Given the description of an element on the screen output the (x, y) to click on. 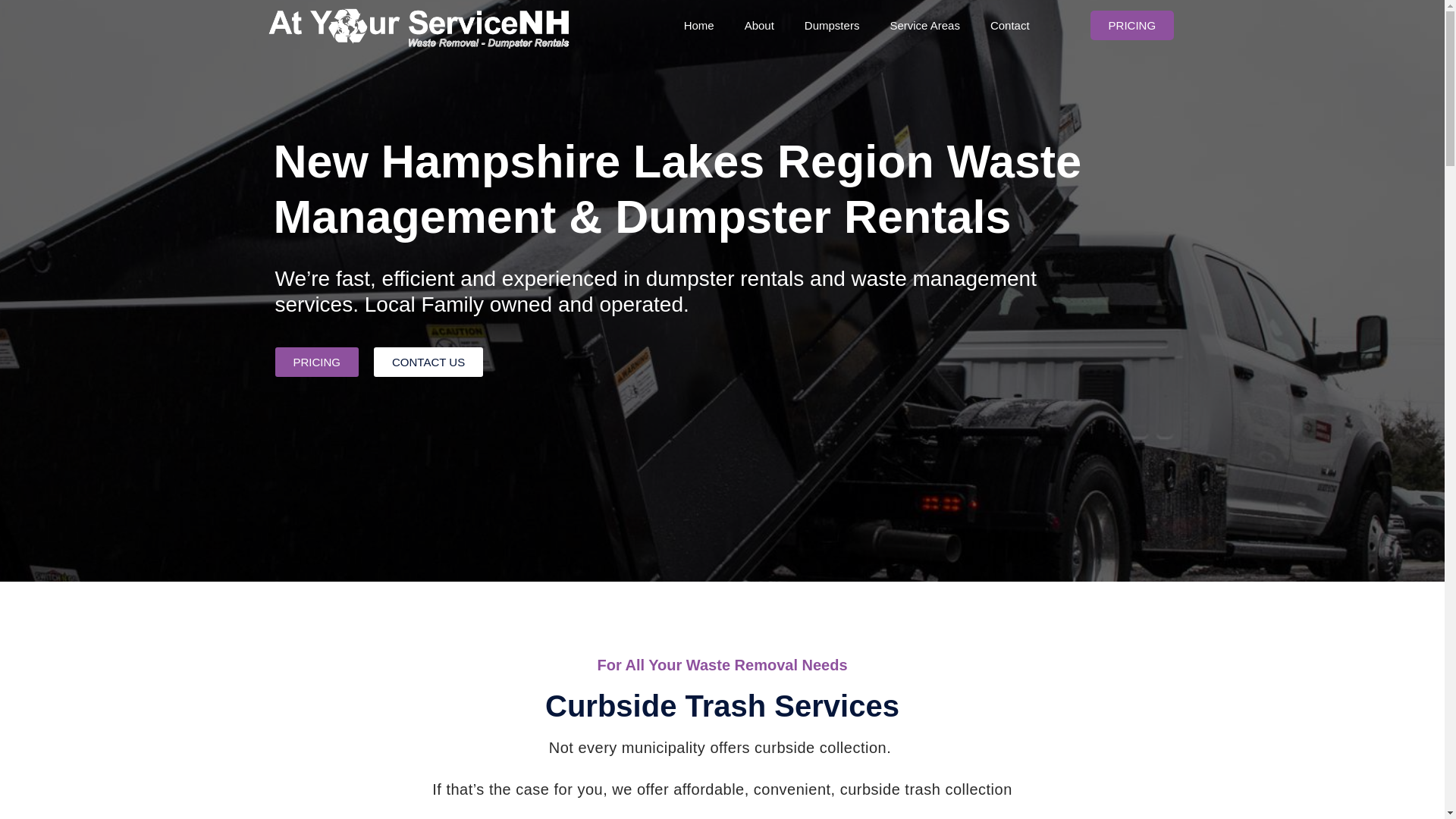
Home (698, 25)
PRICING (1132, 25)
About (759, 25)
CONTACT US (428, 361)
Contact (1010, 25)
PRICING (316, 361)
Dumpsters (832, 25)
Service Areas (925, 25)
